Given the description of an element on the screen output the (x, y) to click on. 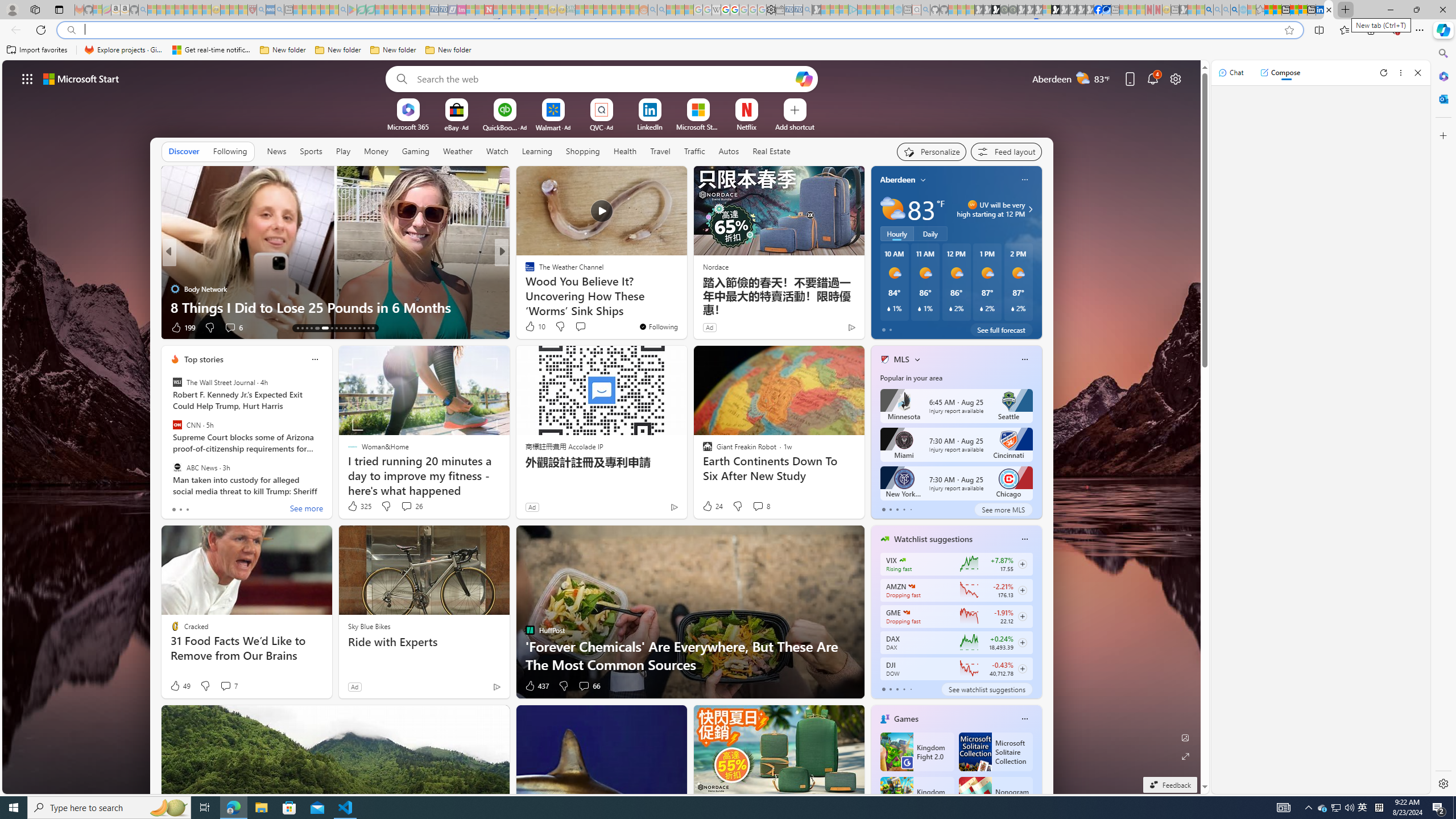
tab-3 (903, 689)
UV will be very high starting at 12 PM (1028, 208)
LinkedIn (649, 126)
Nordace | Facebook (1098, 9)
Compose (1279, 72)
49 Like (179, 685)
tab-4 (910, 689)
